Given the description of an element on the screen output the (x, y) to click on. 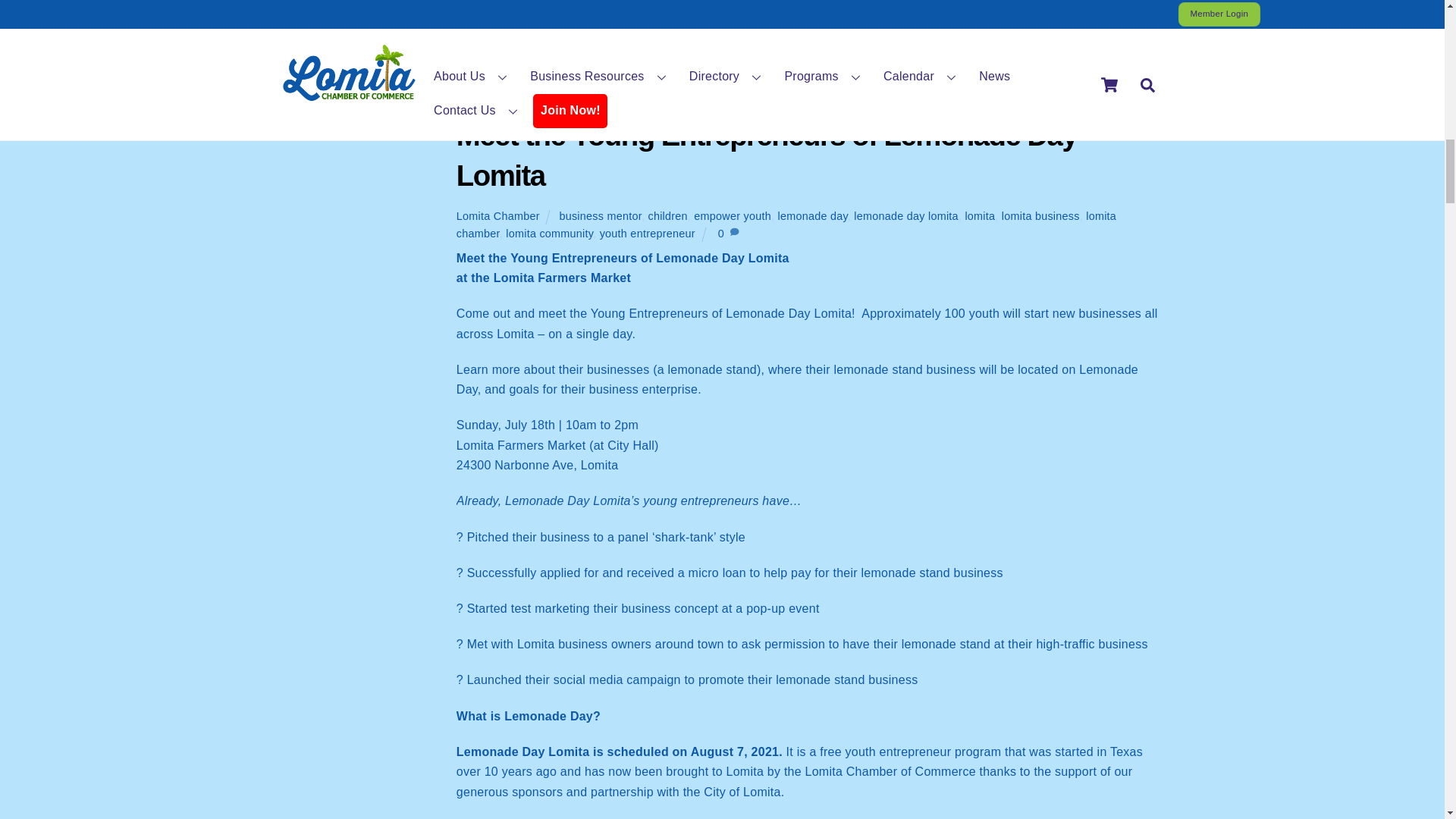
LD Lomita Lemmy Stand (356, 125)
